Given the description of an element on the screen output the (x, y) to click on. 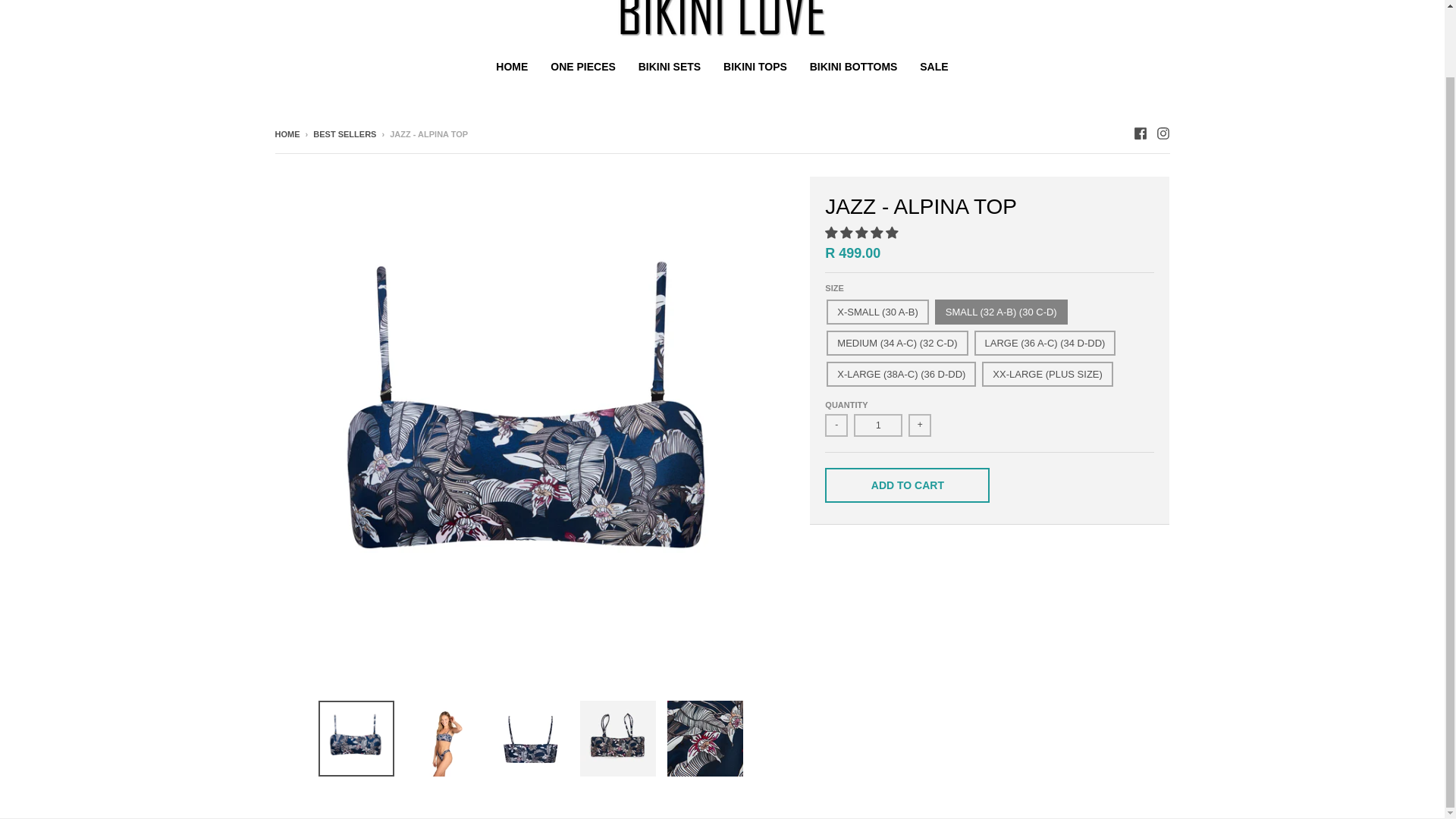
Instagram - Bikini Love South Africa (1162, 133)
BIKINI TOPS (754, 66)
SALE (934, 66)
ONE PIECES (583, 66)
Back to the frontpage (287, 133)
BEST SELLERS (344, 133)
BIKINI BOTTOMS (853, 66)
Facebook - Bikini Love South Africa (1139, 133)
1 (877, 425)
HOME (287, 133)
